Given the description of an element on the screen output the (x, y) to click on. 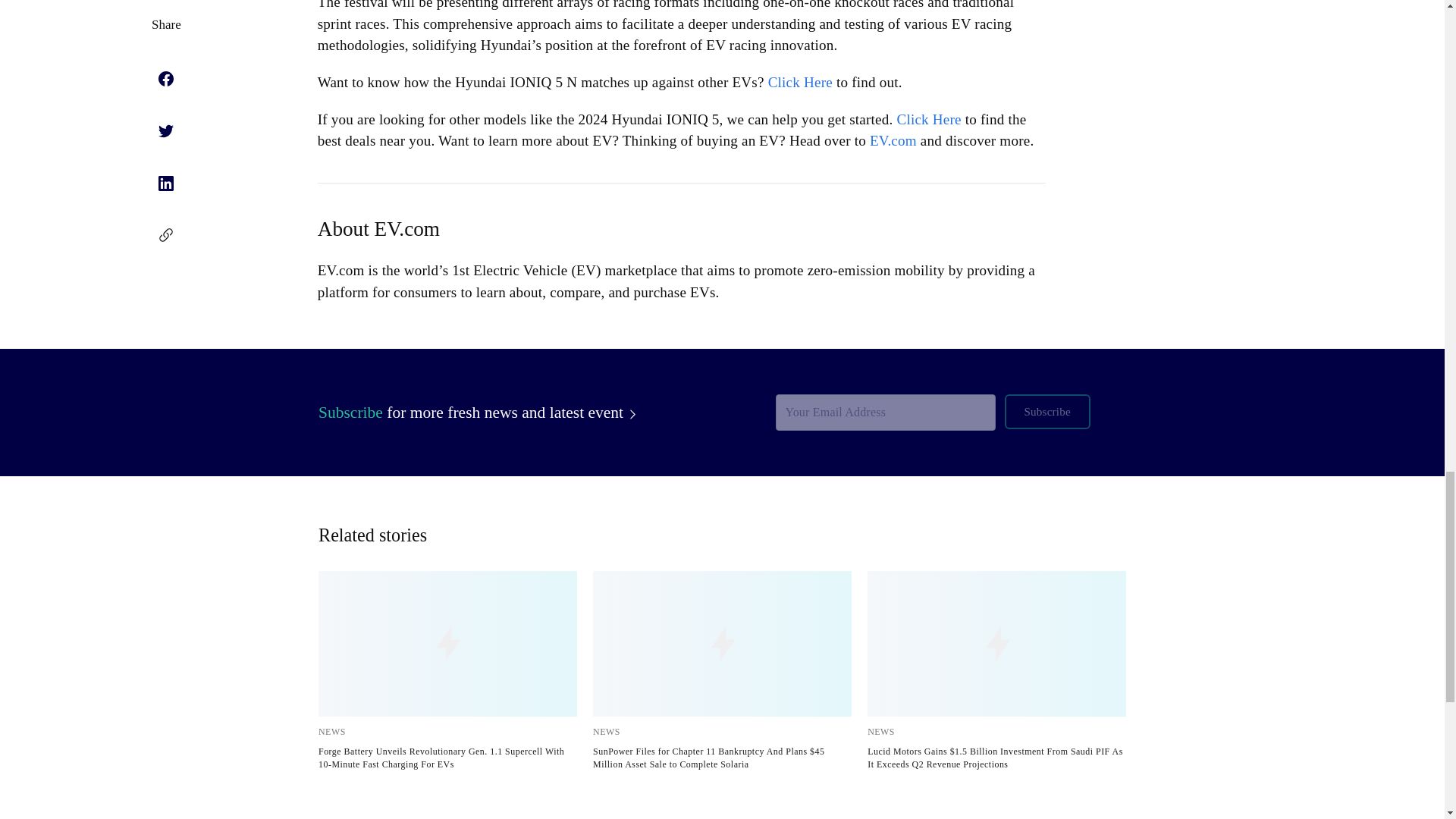
EV.com (893, 140)
Click Here (928, 119)
Click Here (800, 82)
Subscribe (1046, 411)
